Given the description of an element on the screen output the (x, y) to click on. 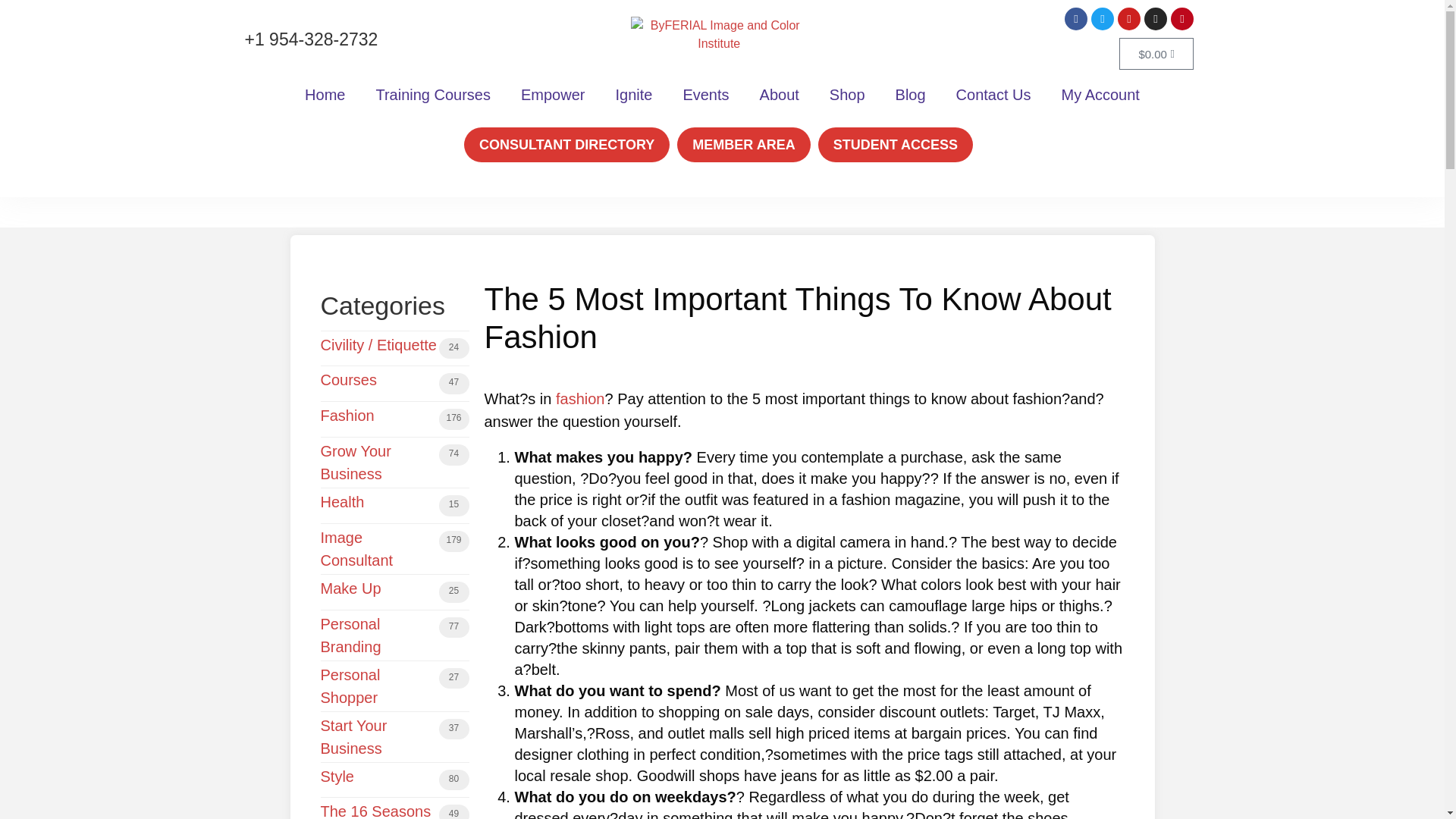
Shop (846, 94)
Empower (552, 94)
Blog (910, 94)
My Account (1100, 94)
Events (705, 94)
Training Courses (432, 94)
About (778, 94)
Home (324, 94)
Ignite (632, 94)
Contact Us (993, 94)
